Given the description of an element on the screen output the (x, y) to click on. 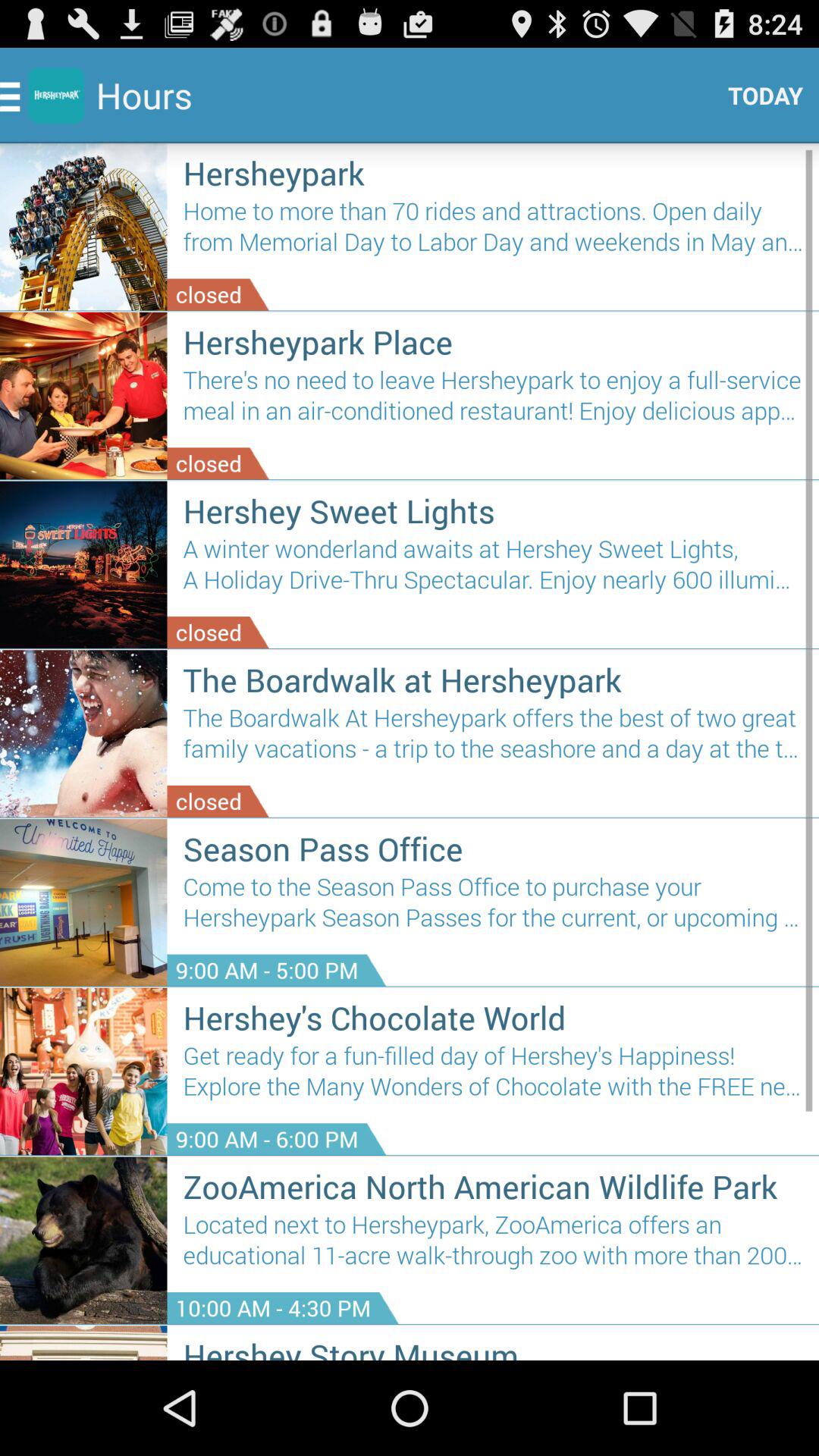
turn on the app to the right of the hours icon (759, 95)
